Given the description of an element on the screen output the (x, y) to click on. 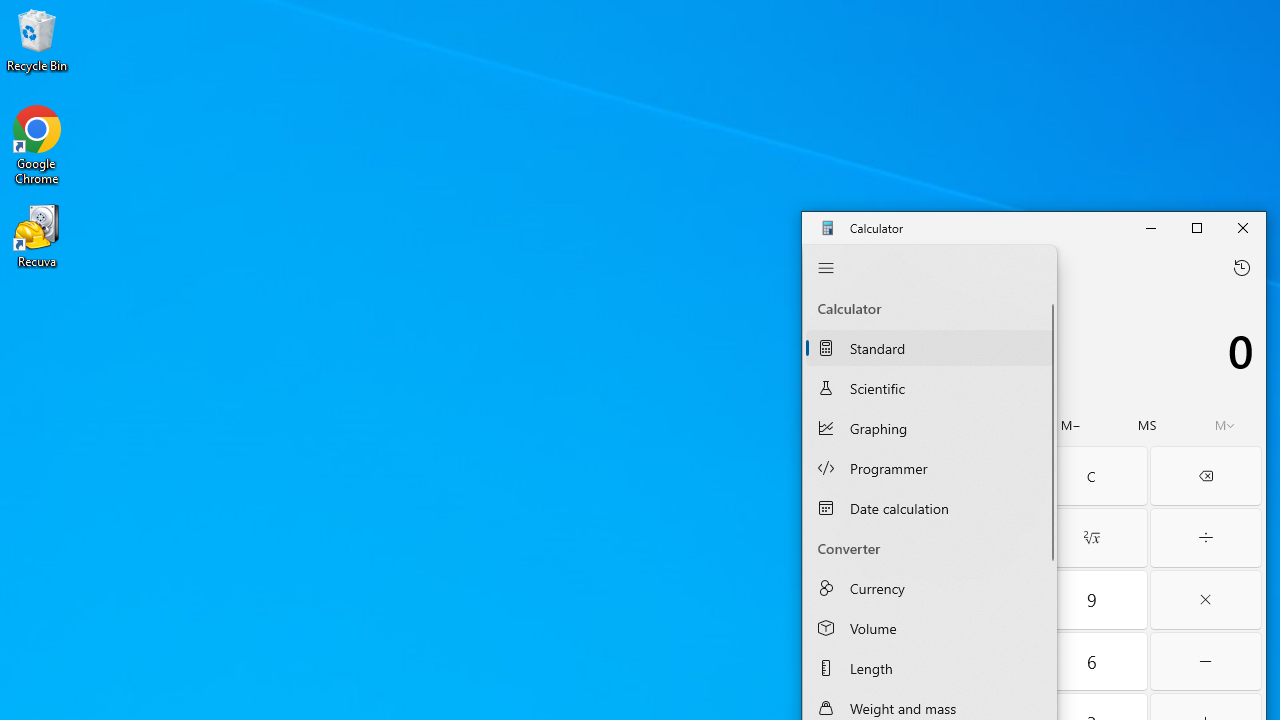
Date calculation Calculator (929, 508)
Programmer Calculator (929, 468)
Square root (1091, 538)
Keep on top (958, 267)
Reciprocal (862, 538)
Percent (862, 475)
Memory store (1147, 425)
Close Navigation (826, 267)
Minus (1205, 661)
Maximize Calculator (1196, 227)
Vertical Small Decrease (1050, 294)
Standard Calculator (929, 347)
Multiply by (1205, 600)
Open memory flyout (1224, 425)
Eight (977, 600)
